Given the description of an element on the screen output the (x, y) to click on. 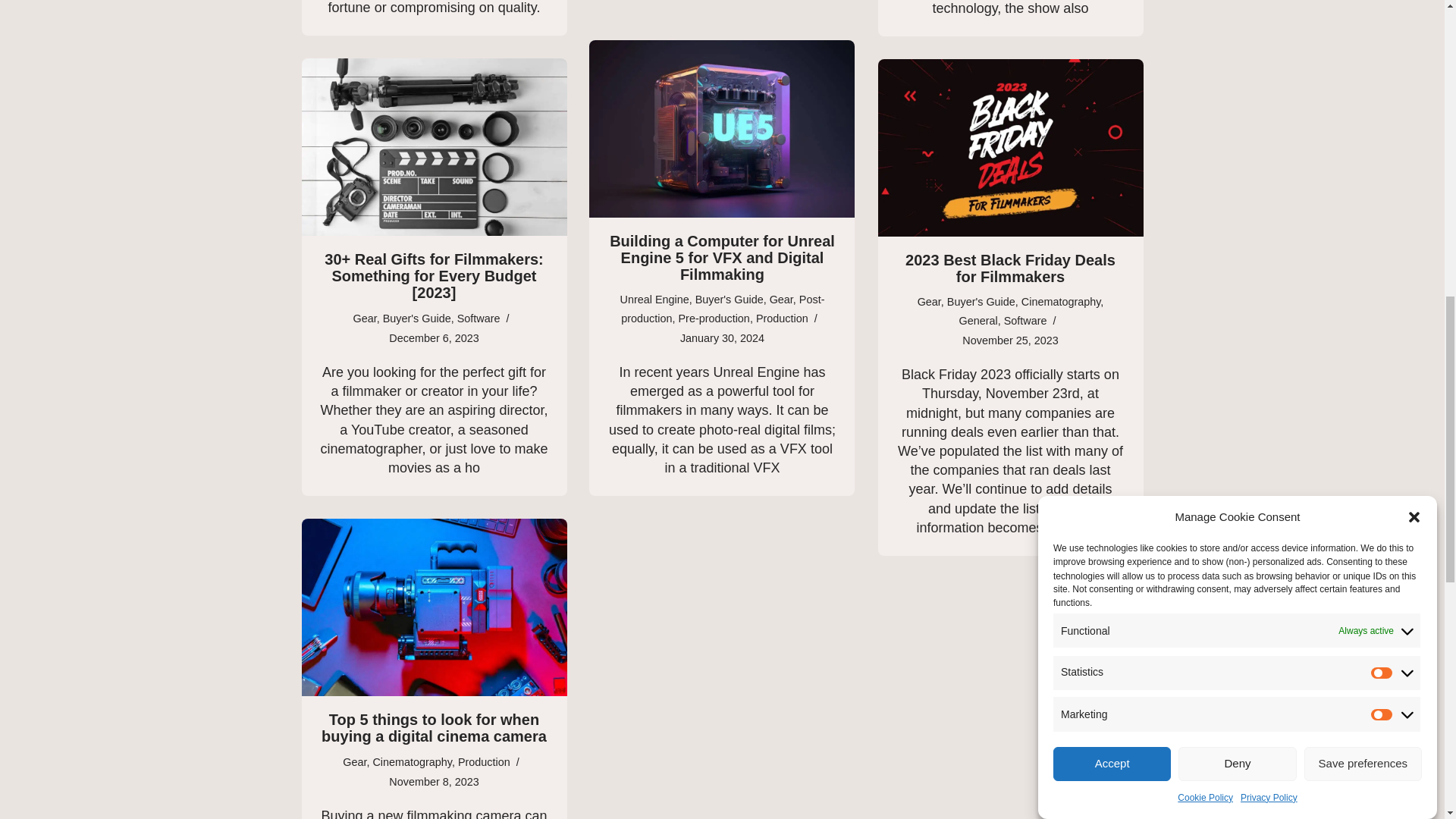
Privacy Policy (1268, 128)
Cookie Policy (1205, 140)
Unreal Engine (654, 299)
Accept (1111, 233)
Top 5 things to look for when buying a digital cinema camera (434, 606)
Deny (1236, 217)
Save preferences (1363, 157)
2023 Best Black Friday Deals for Filmmakers (1009, 146)
